Given the description of an element on the screen output the (x, y) to click on. 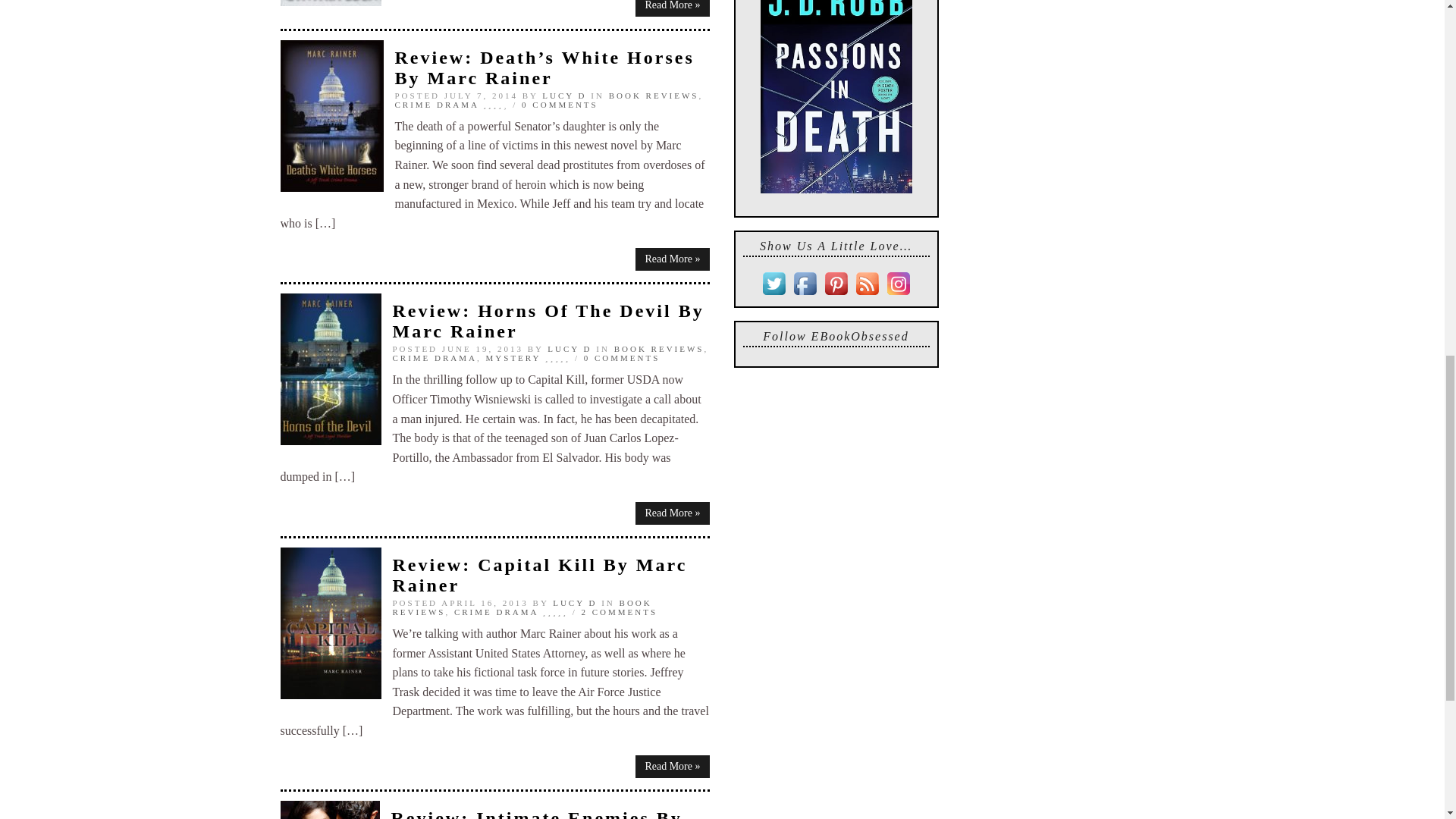
View all posts in Crime Drama (436, 103)
View all posts in Book Reviews (659, 347)
LUCY D (563, 94)
View all posts in Book Reviews (522, 607)
BOOK REVIEWS (653, 94)
View all posts in Mystery (513, 357)
View all posts in Crime Drama (435, 357)
View all posts in Book Reviews (653, 94)
